Given the description of an element on the screen output the (x, y) to click on. 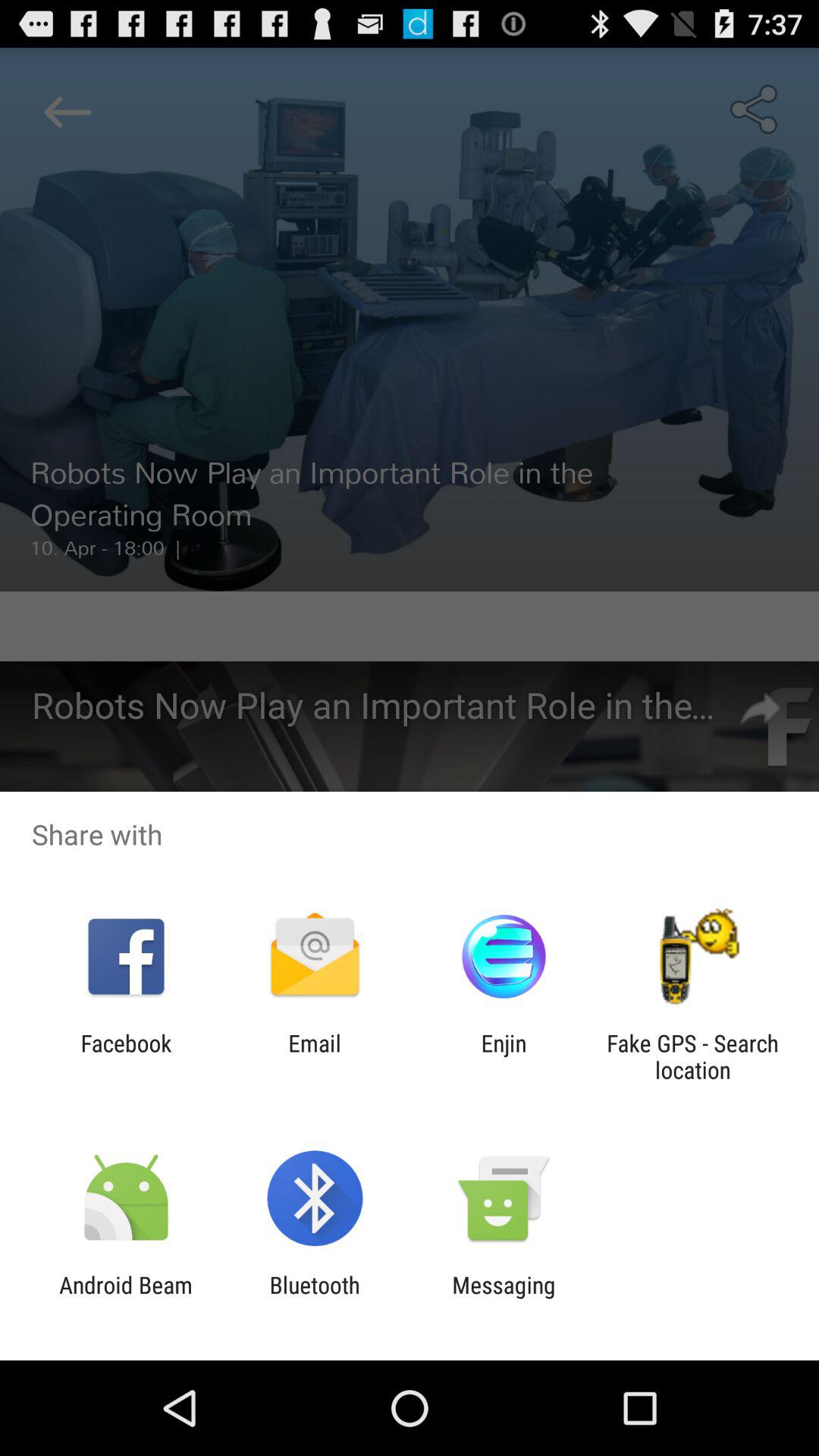
launch the app next to fake gps search (503, 1056)
